Given the description of an element on the screen output the (x, y) to click on. 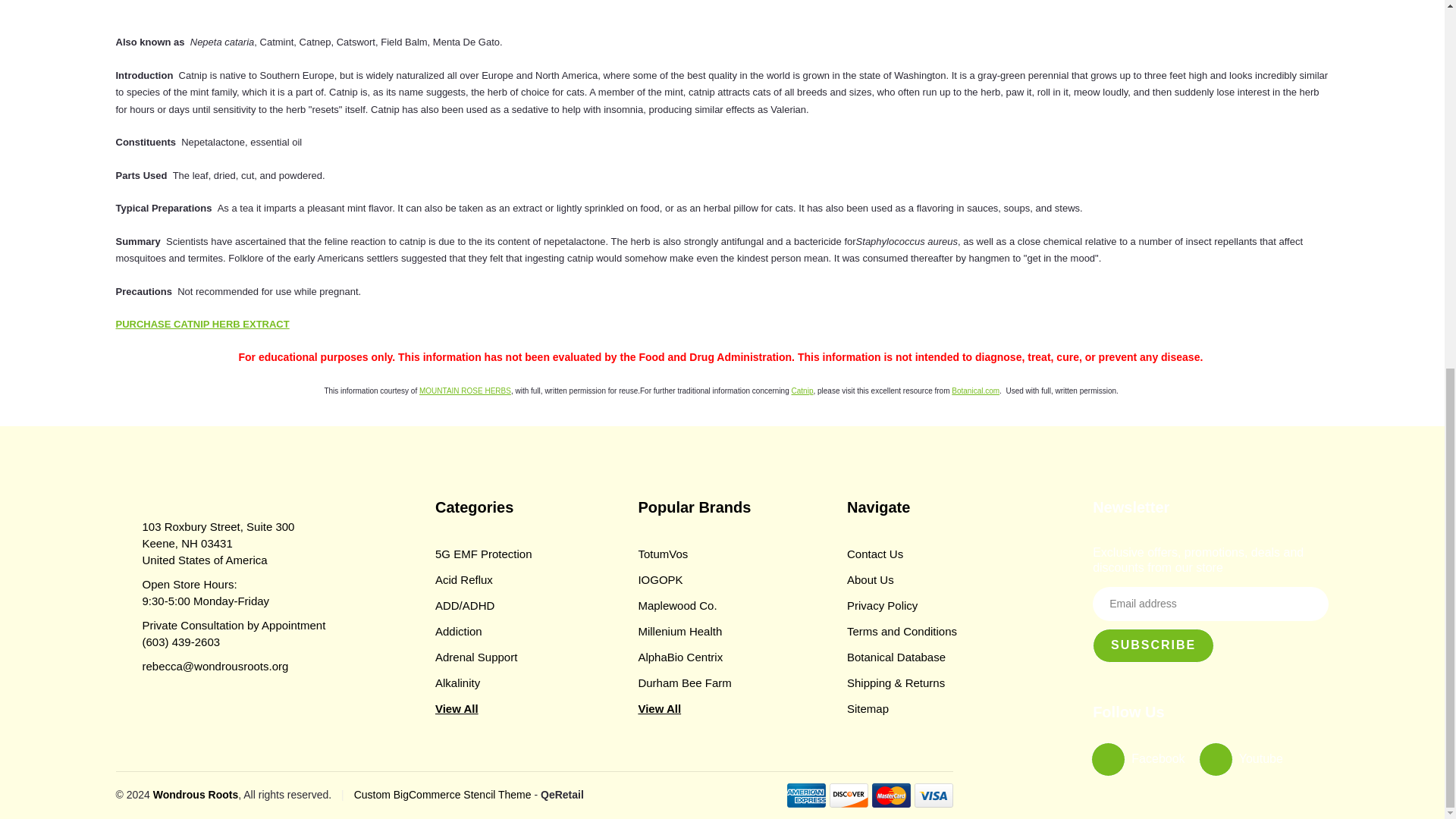
603-439-2603 (181, 641)
SUBSCRIBE (1153, 644)
catnip-724539-640.jpg (357, 8)
